Given the description of an element on the screen output the (x, y) to click on. 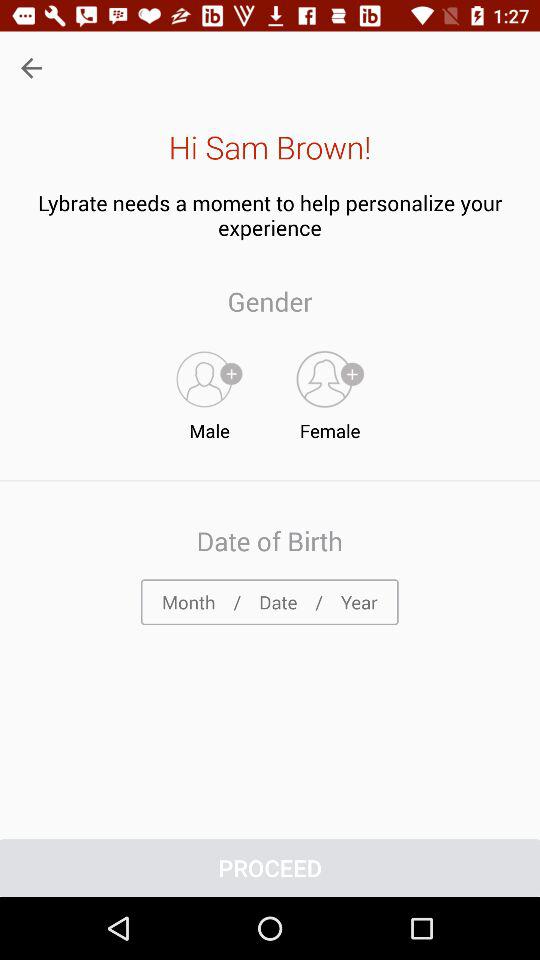
click female item (329, 391)
